Given the description of an element on the screen output the (x, y) to click on. 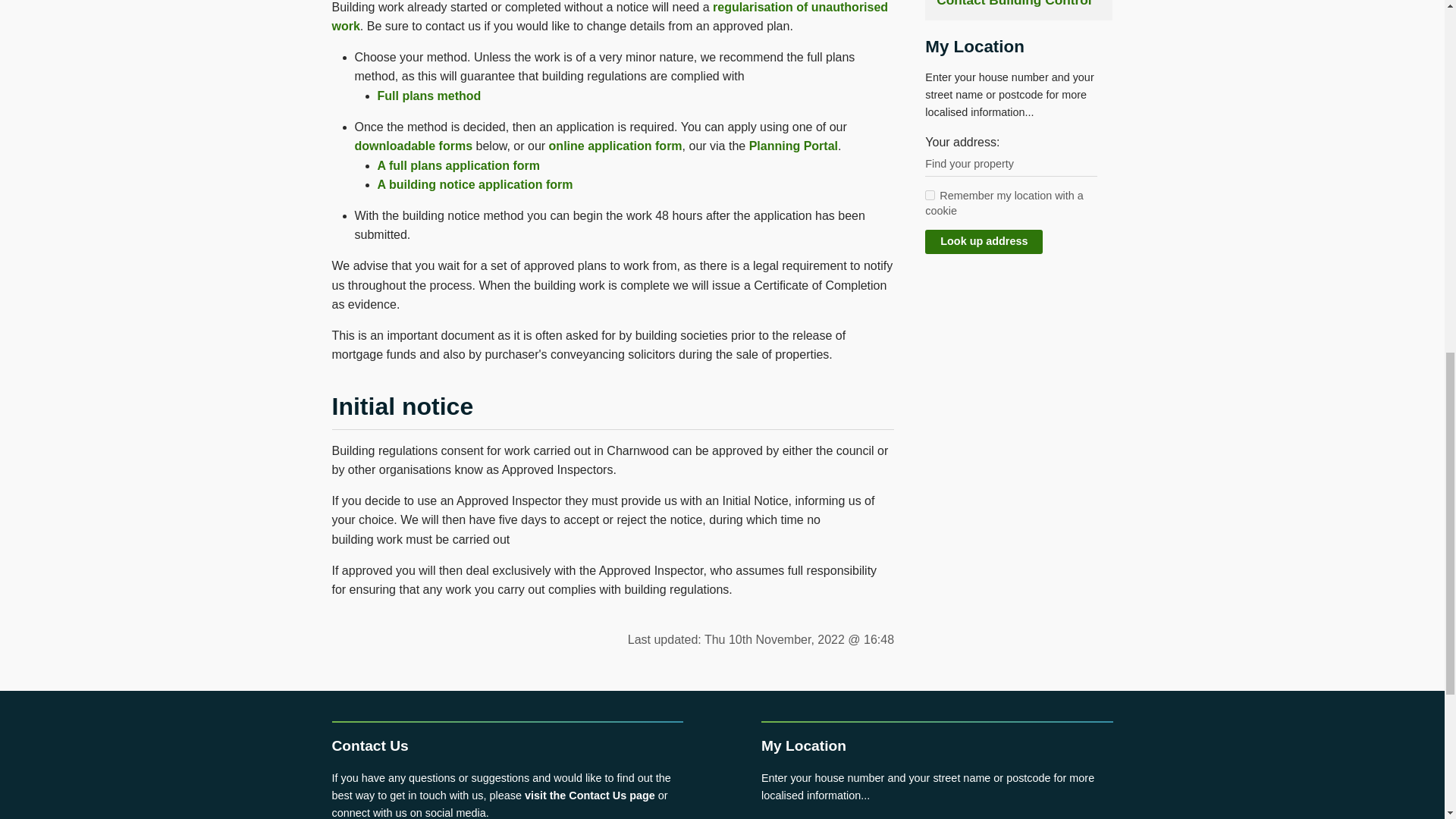
1 (929, 194)
1 (929, 194)
Link to Charnwood's Building Control online application form (615, 145)
